Given the description of an element on the screen output the (x, y) to click on. 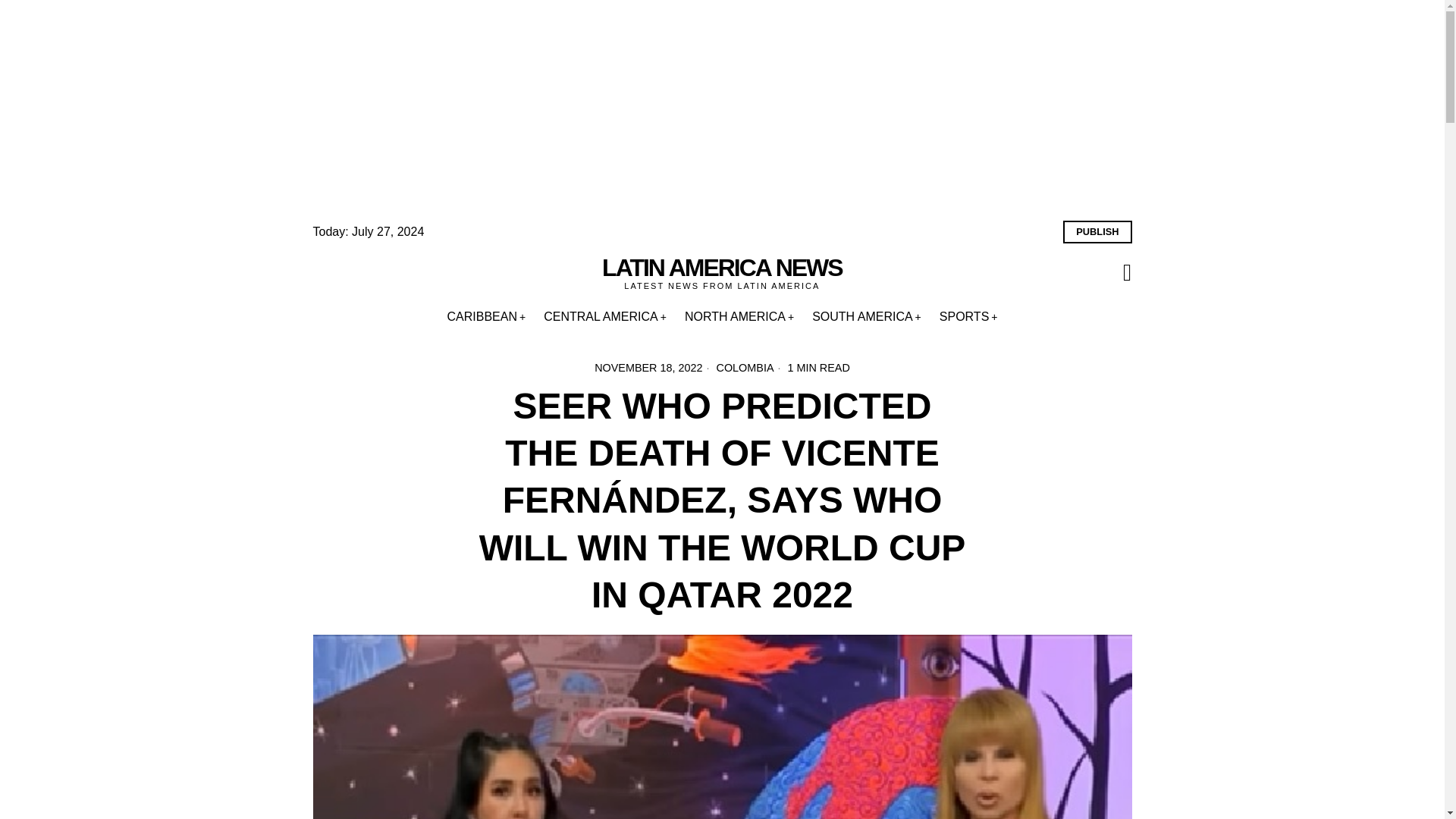
NORTH AMERICA (739, 317)
LATIN AMERICA NEWS (722, 267)
SOUTH AMERICA (866, 317)
COLOMBIA (745, 366)
PUBLISH (1096, 231)
18 Nov, 2022 14:07:00 (647, 366)
SPORTS (968, 317)
CENTRAL AMERICA (604, 317)
CARIBBEAN (486, 317)
